Given the description of an element on the screen output the (x, y) to click on. 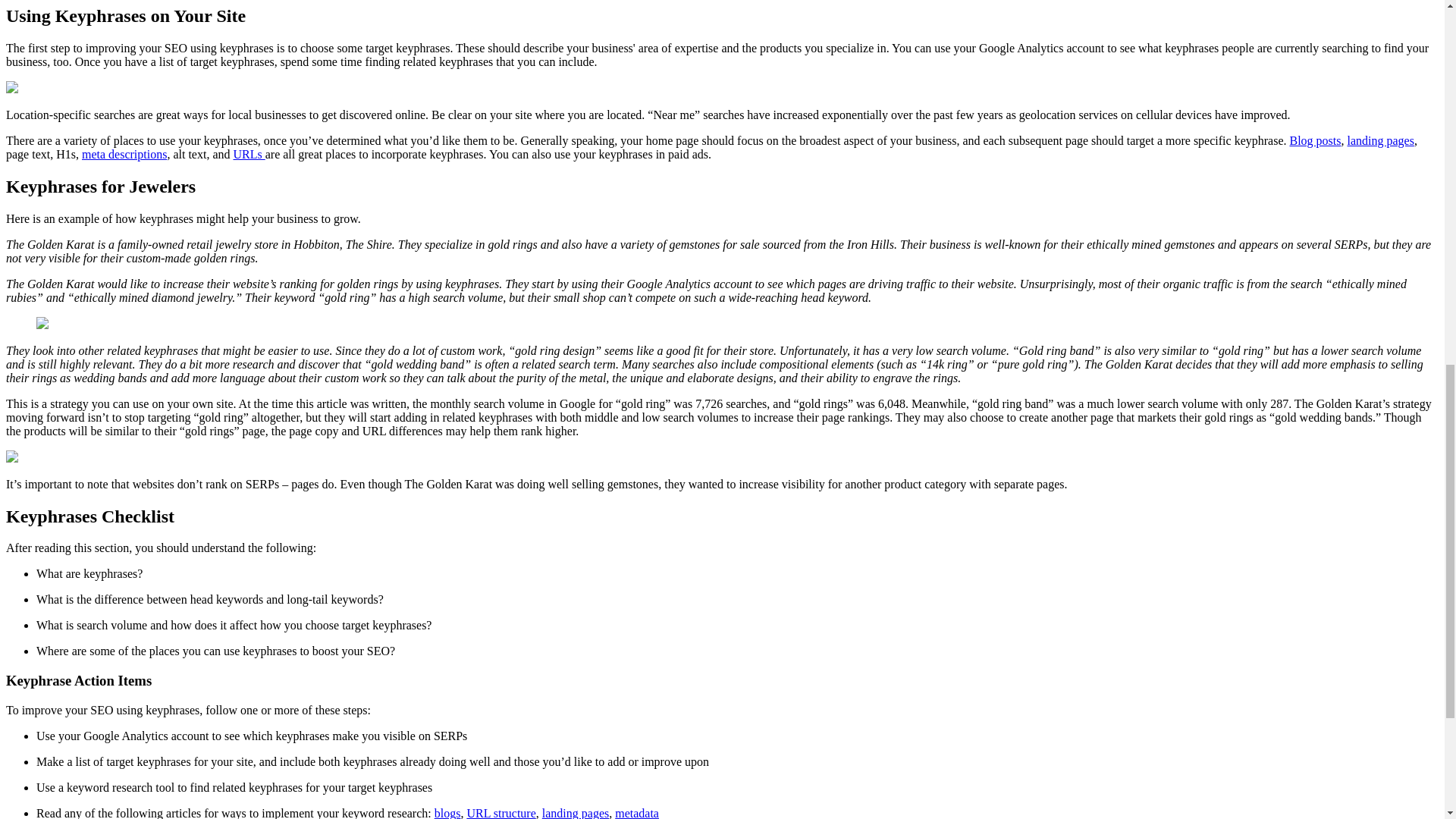
URL structure (500, 812)
landing pages (574, 812)
Blog posts (1314, 140)
blogs (447, 812)
metadata (636, 812)
URLs (248, 154)
landing pages (1379, 140)
meta descriptions (124, 154)
